Given the description of an element on the screen output the (x, y) to click on. 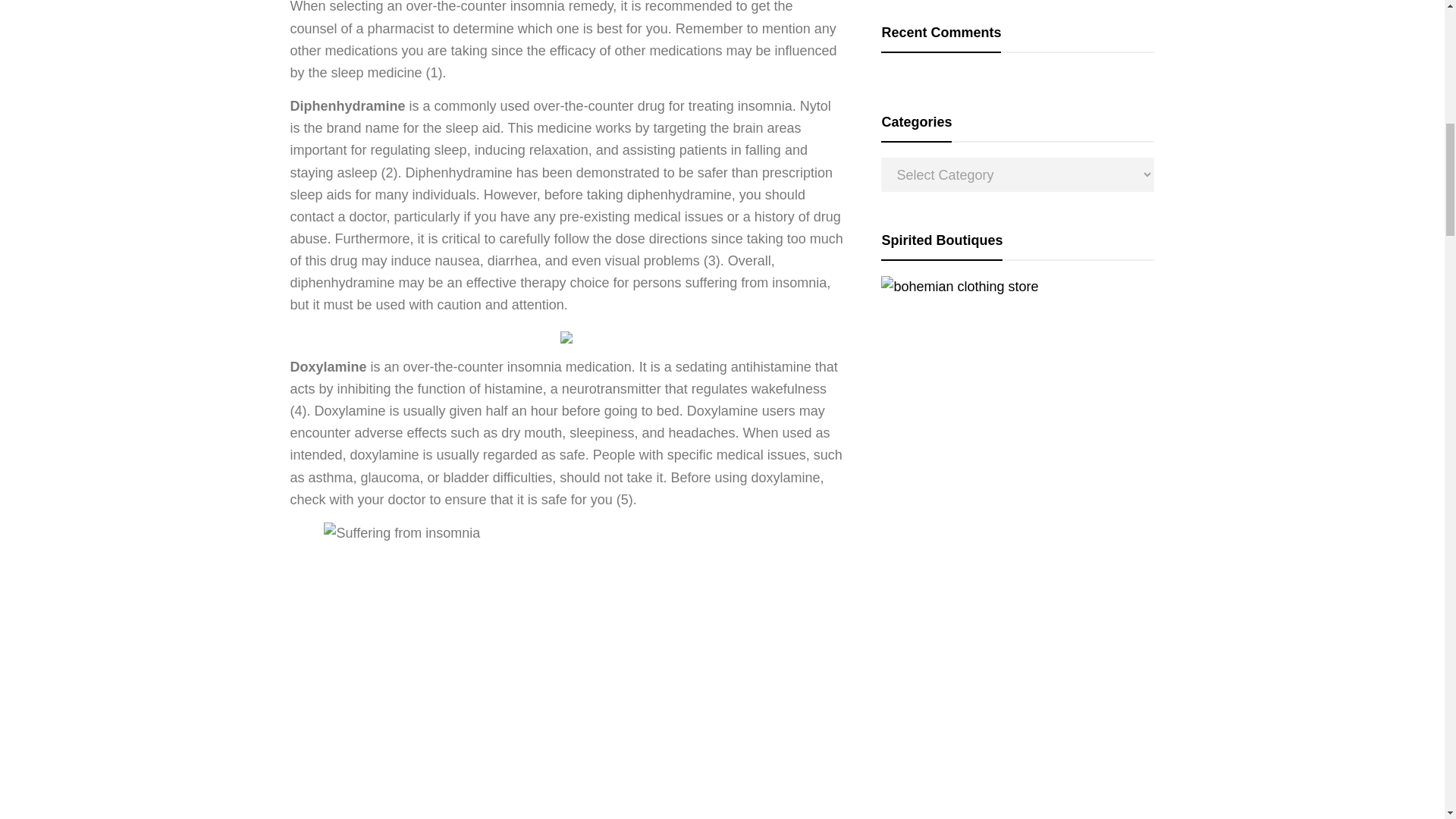
Spirited Boutiques (959, 286)
